Given the description of an element on the screen output the (x, y) to click on. 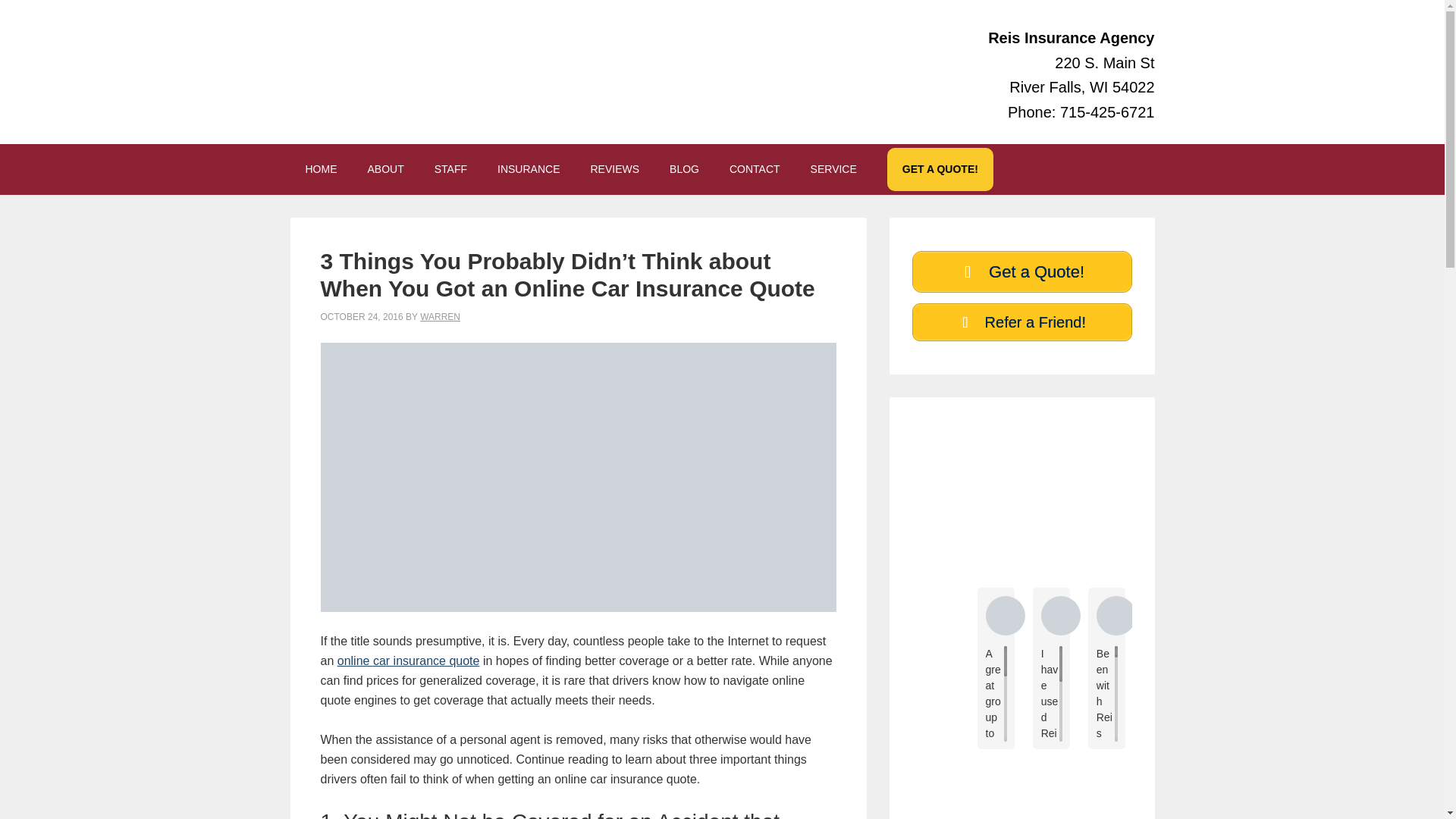
Get a Quote! (1021, 271)
William S. (1393, 615)
William B. (1336, 615)
Reis Insurance Agency (949, 646)
GET A QUOTE! (939, 169)
Craig H. (1171, 615)
INSURANCE (528, 169)
715-425-6721 (1106, 111)
John M. (1115, 615)
Anthony R. (1060, 615)
REVIEWS (614, 169)
HOME (320, 169)
CONTACT (754, 169)
online car insurance quote (408, 660)
Gavin K. (1005, 615)
